Given the description of an element on the screen output the (x, y) to click on. 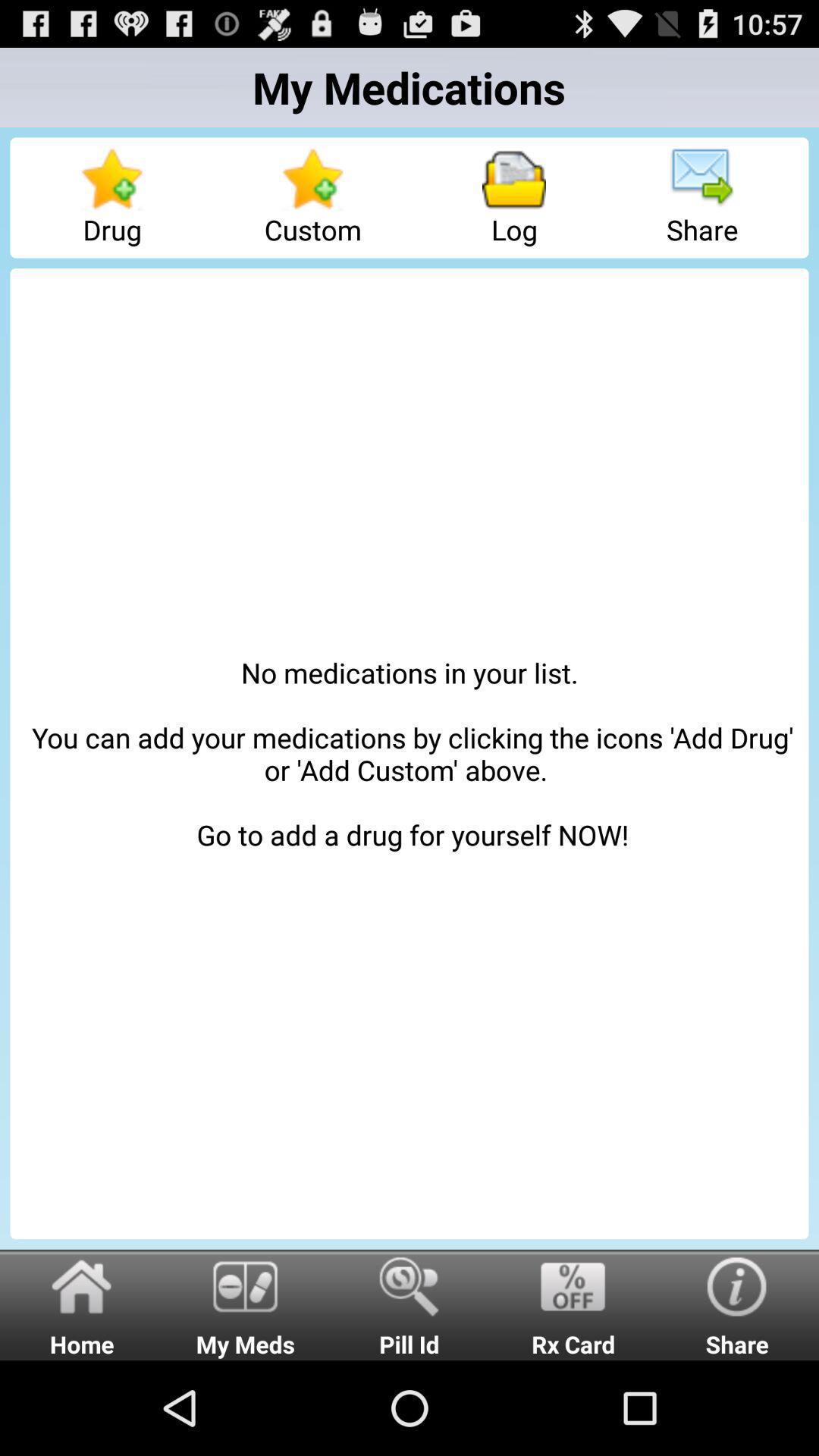
launch the item below the no medications in app (573, 1304)
